Given the description of an element on the screen output the (x, y) to click on. 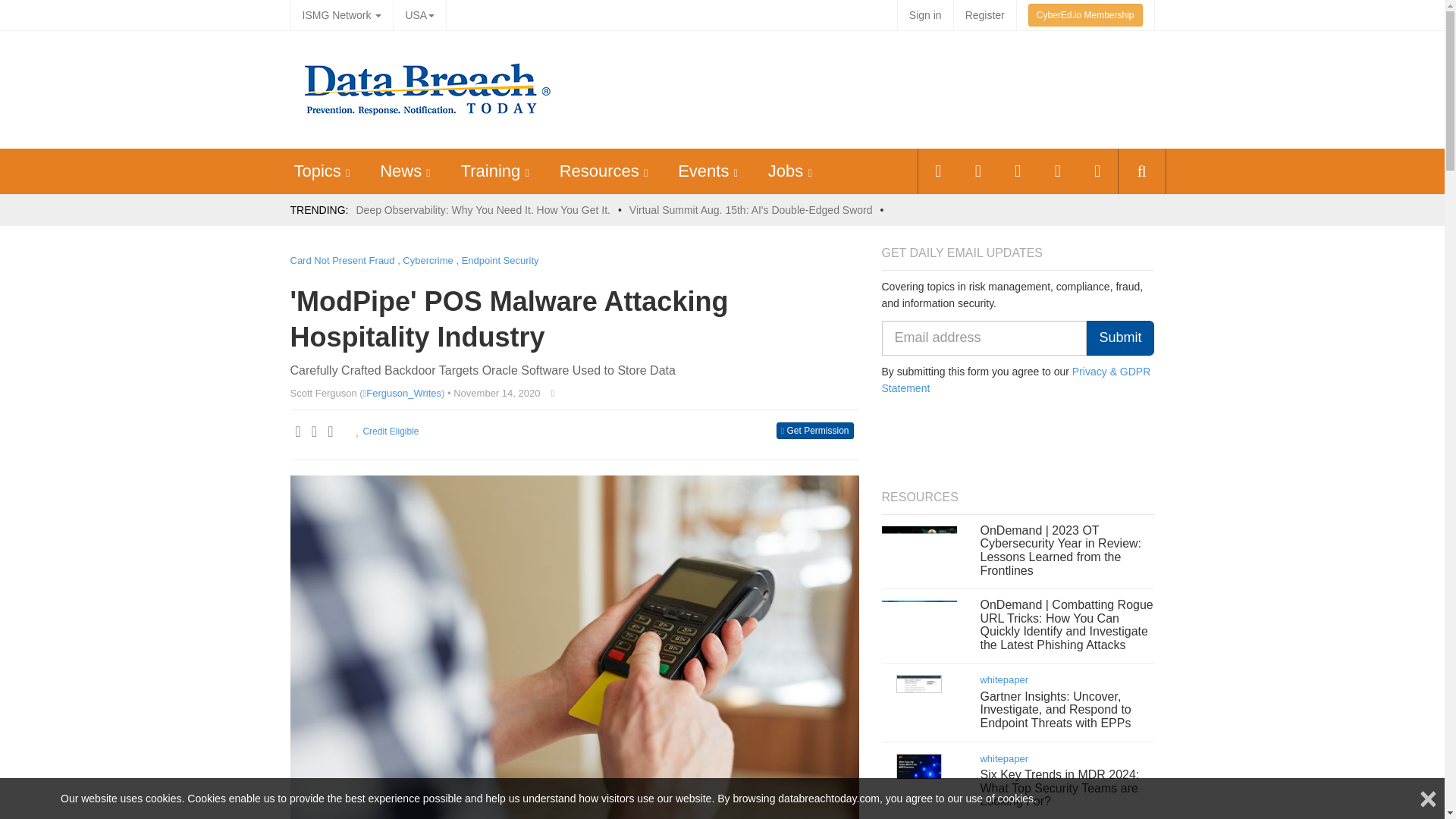
USA (418, 15)
Sign in (925, 15)
CyberEd.io Membership (1084, 15)
Register (984, 15)
Topics (317, 170)
ISMG Network (341, 15)
